Given the description of an element on the screen output the (x, y) to click on. 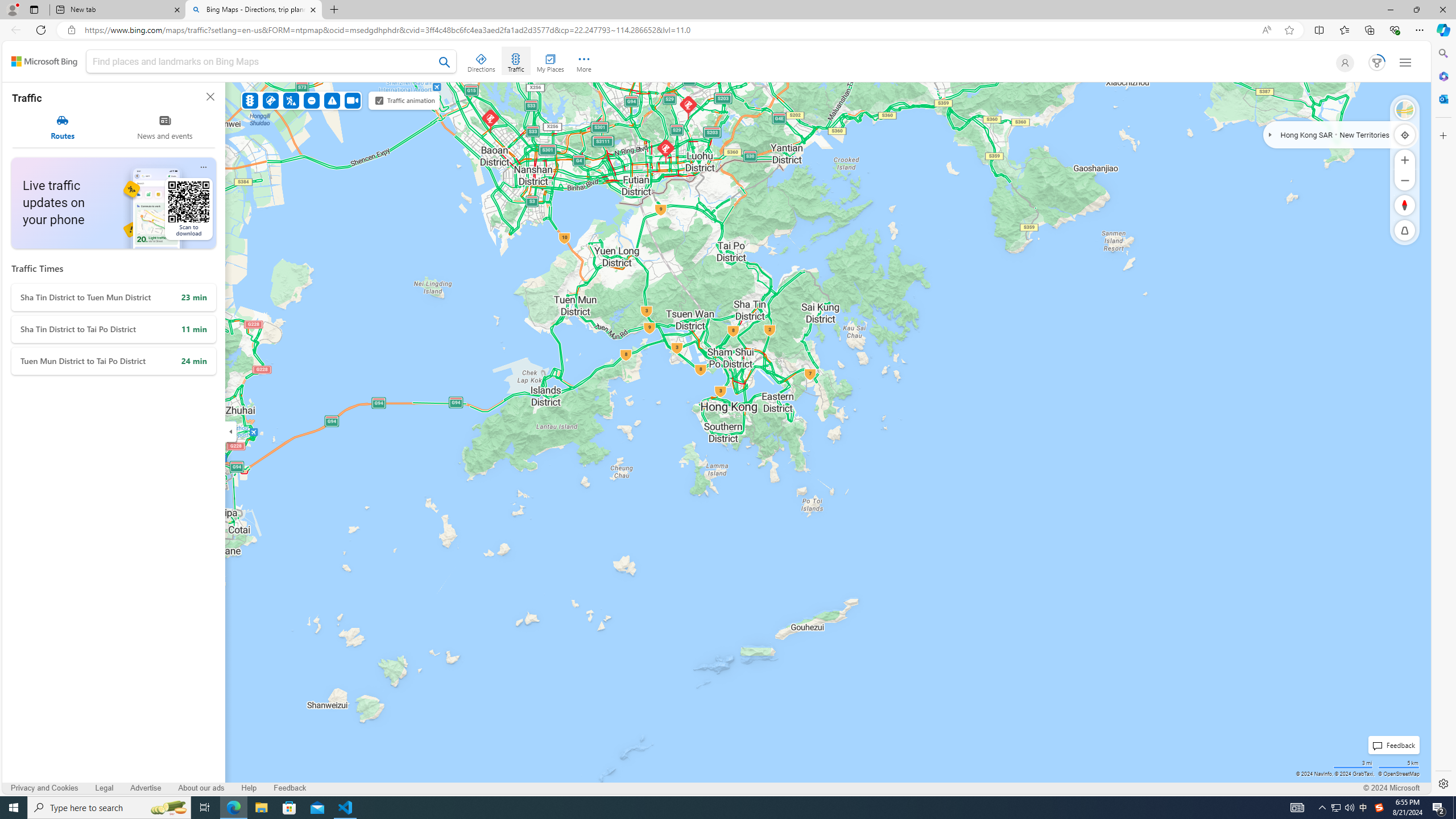
Add a search (263, 60)
Rotate Right (1393, 205)
News and events (164, 127)
AutomationID: id_l (1342, 62)
Privacy and Cookies (44, 787)
Class: sbElement (43, 60)
